Given the description of an element on the screen output the (x, y) to click on. 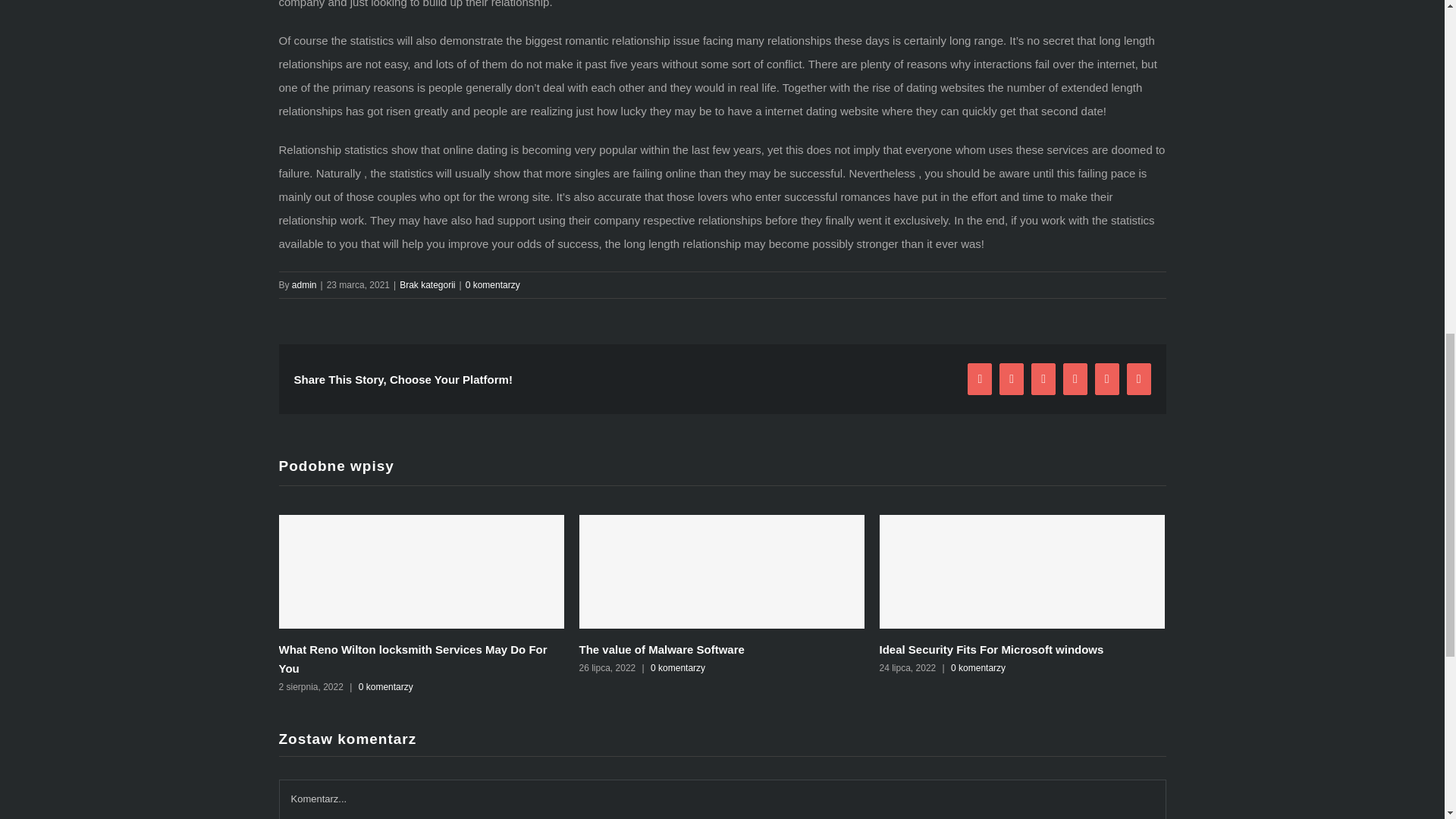
0 komentarzy (978, 667)
0 komentarzy (385, 686)
Ideal Security Fits For Microsoft windows (991, 649)
Ideal Security Fits For Microsoft windows (991, 649)
Brak kategorii (426, 284)
The value of Malware Software (661, 649)
The value of Malware Software (661, 649)
What Reno Wilton locksmith Services May Do For You (413, 658)
0 komentarzy (492, 284)
What Reno Wilton locksmith Services May Do For You (413, 658)
